Given the description of an element on the screen output the (x, y) to click on. 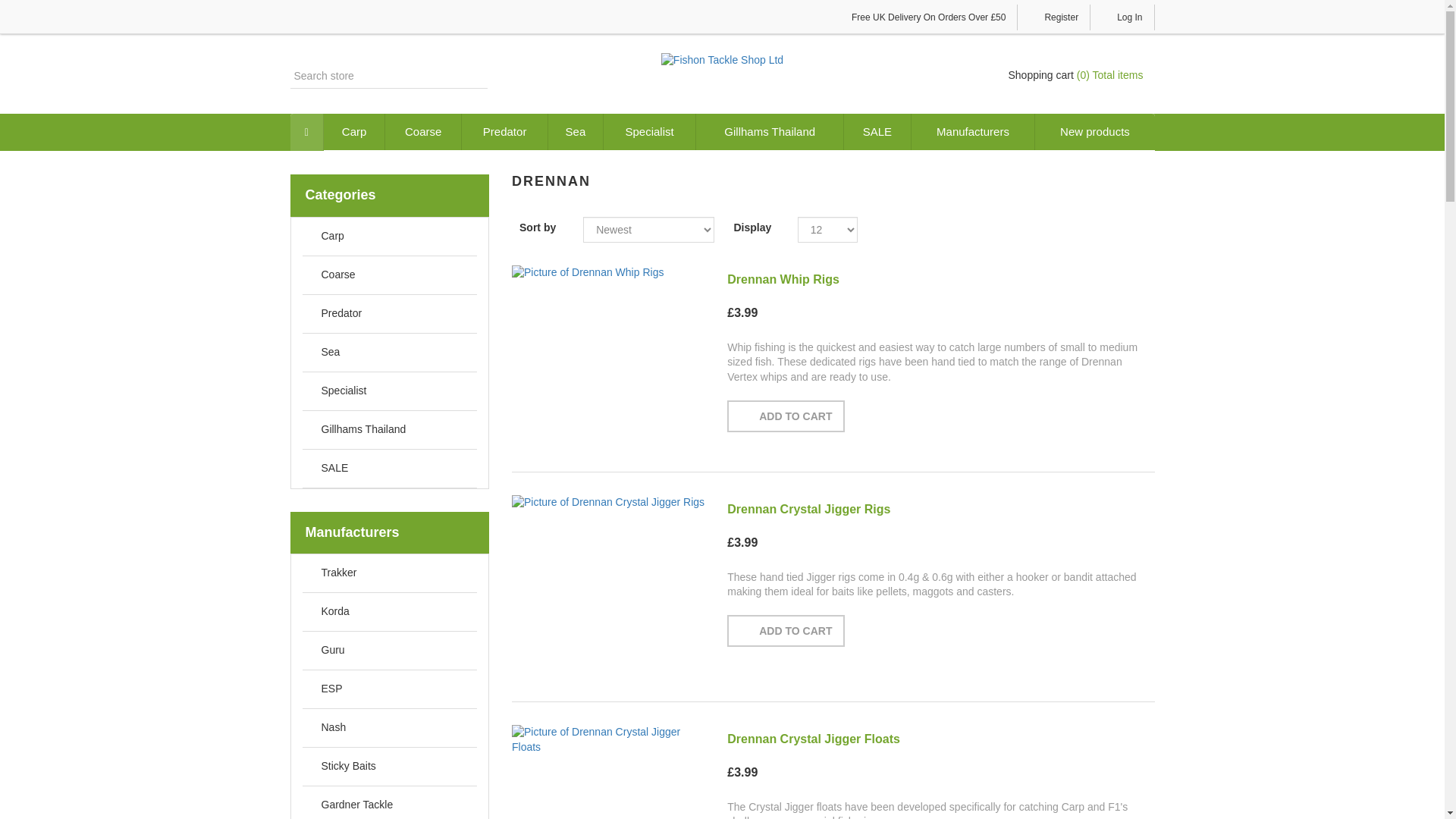
Carp (354, 131)
Log In (1122, 17)
Show details for Drennan Whip Rigs (608, 272)
Register (1053, 17)
Show details for Drennan Crystal Jigger Floats (608, 739)
Show details for Drennan Crystal Jigger Rigs (608, 502)
Add to cart (785, 631)
Add to cart (785, 416)
